Given the description of an element on the screen output the (x, y) to click on. 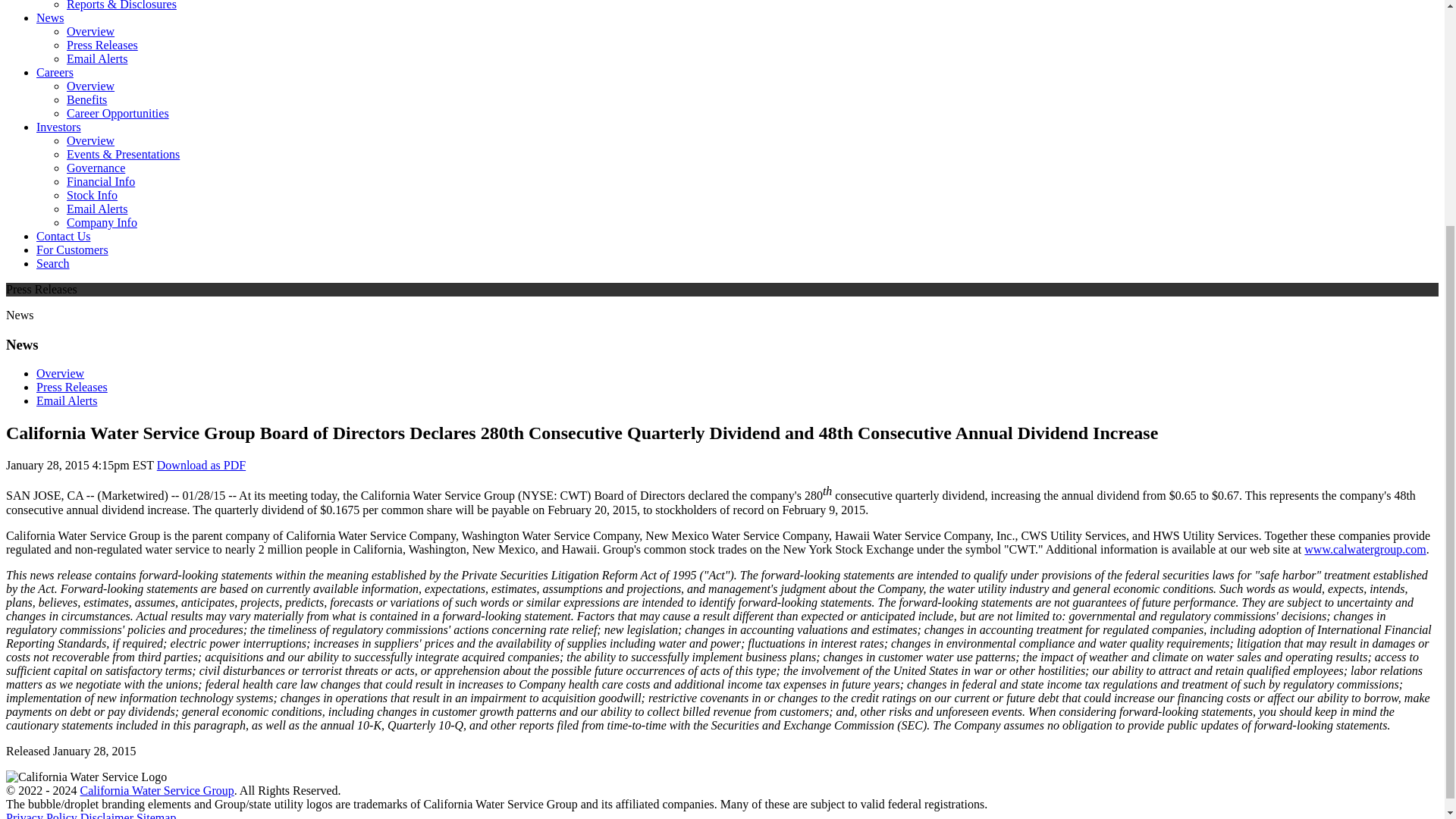
Financial Info (100, 181)
Career Opportunities (117, 113)
Governance (95, 167)
Investors (58, 126)
Overview (90, 31)
Careers (55, 72)
Press Releases (102, 44)
Email Alerts (97, 58)
Benefits (86, 99)
Overview (90, 85)
Overview (90, 140)
News (50, 17)
